Given the description of an element on the screen output the (x, y) to click on. 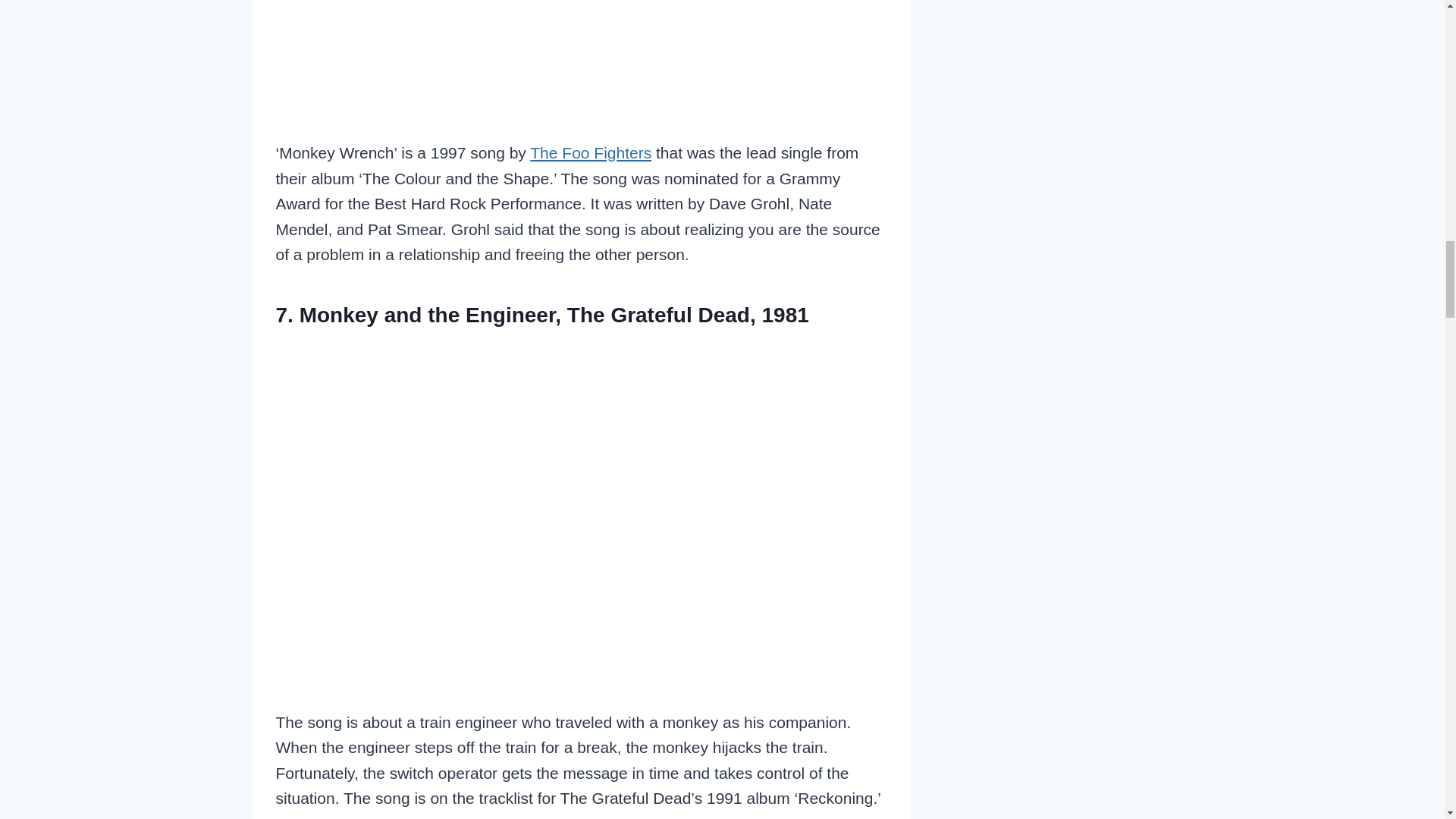
The Foo Fighters (589, 152)
